Given the description of an element on the screen output the (x, y) to click on. 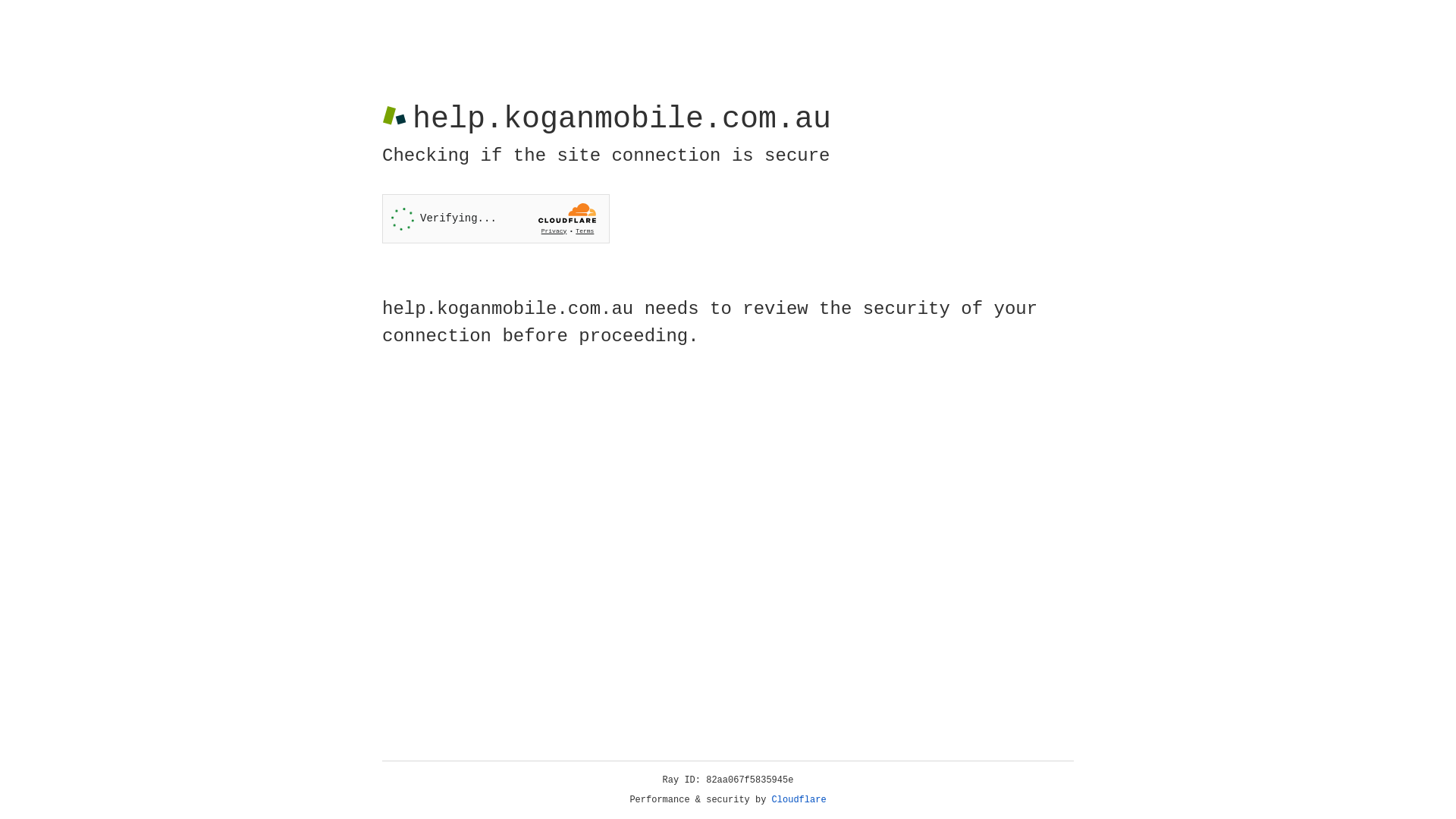
Widget containing a Cloudflare security challenge Element type: hover (495, 218)
Cloudflare Element type: text (798, 799)
